Given the description of an element on the screen output the (x, y) to click on. 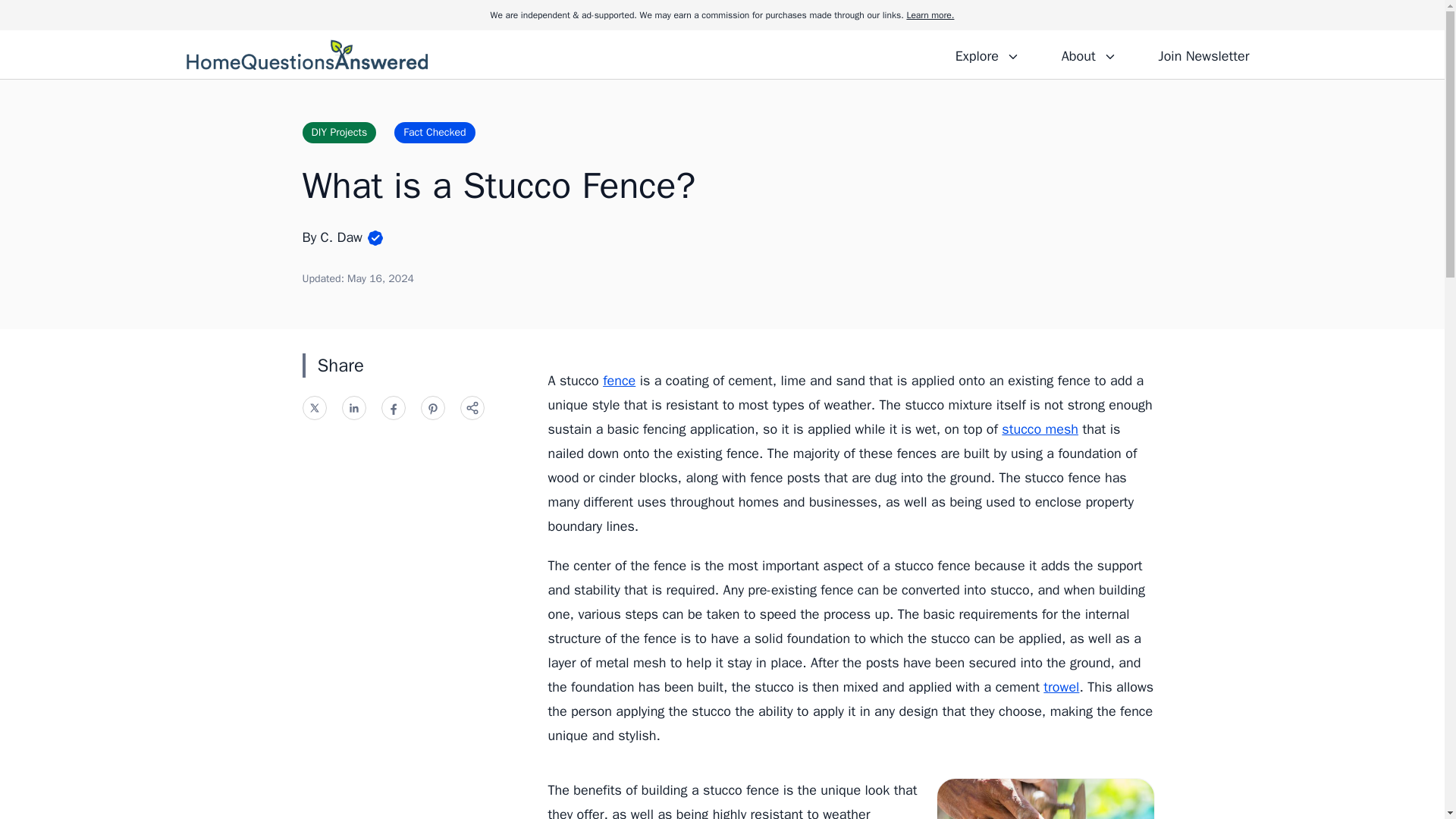
Learn more. (929, 15)
Explore (986, 54)
Fact Checked (434, 132)
fence (618, 380)
trowel (1060, 686)
About (1088, 54)
Join Newsletter (1202, 54)
DIY Projects (338, 132)
stucco mesh (1039, 428)
